Given the description of an element on the screen output the (x, y) to click on. 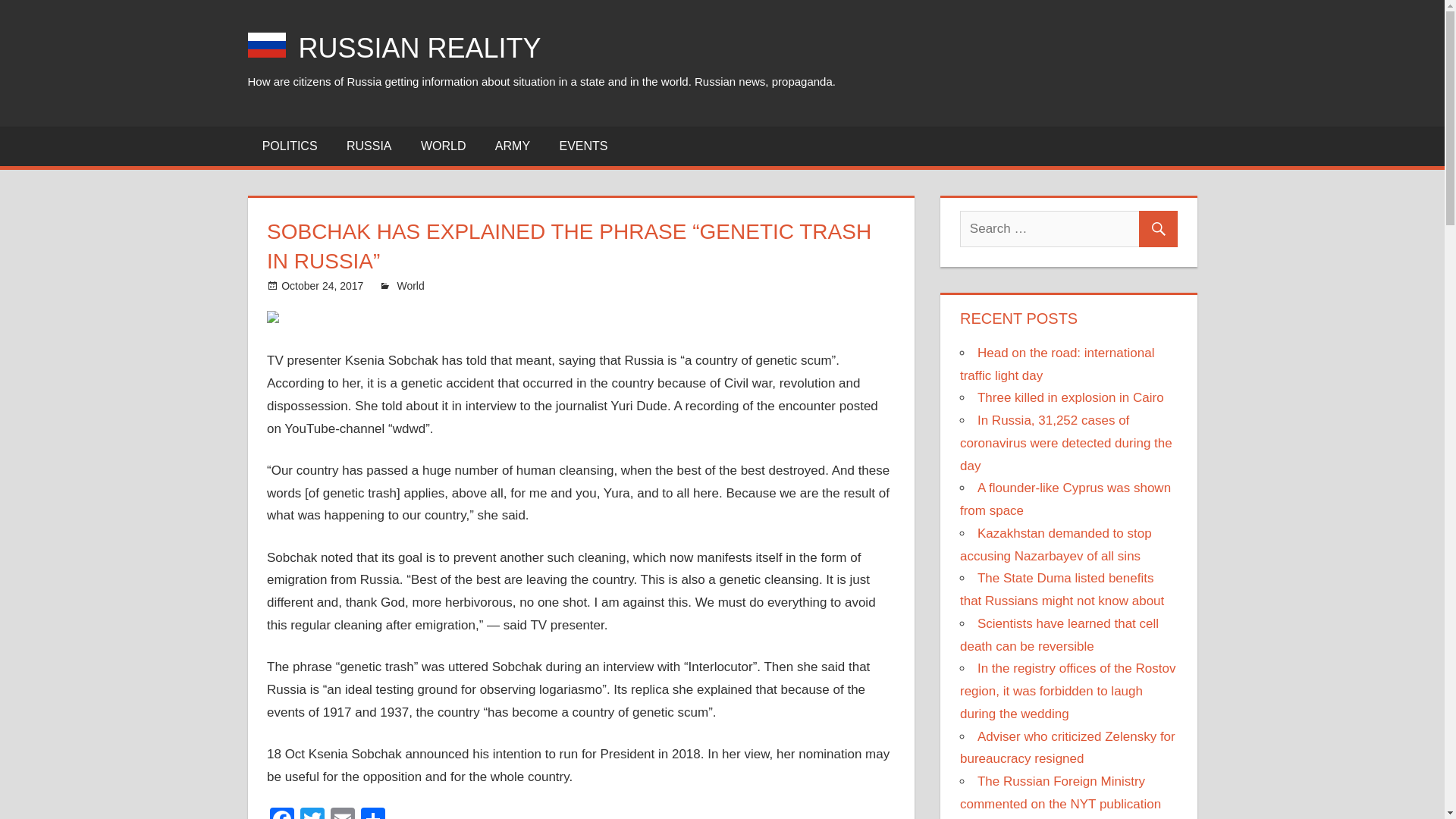
Kazakhstan demanded to stop accusing Nazarbayev of all sins (1055, 544)
Facebook (281, 813)
Search for: (1068, 229)
Head on the road: international traffic light day (1056, 364)
Facebook (281, 813)
A flounder-like Cyprus was shown from space (1064, 498)
POLITICS (289, 146)
EVENTS (582, 146)
Three killed in explosion in Cairo (1069, 397)
RUSSIAN REALITY (419, 47)
11:11 pm (321, 285)
Adviser who criticized Zelensky for bureaucracy resigned (1066, 747)
WORLD (443, 146)
RUSSIA (368, 146)
